Given the description of an element on the screen output the (x, y) to click on. 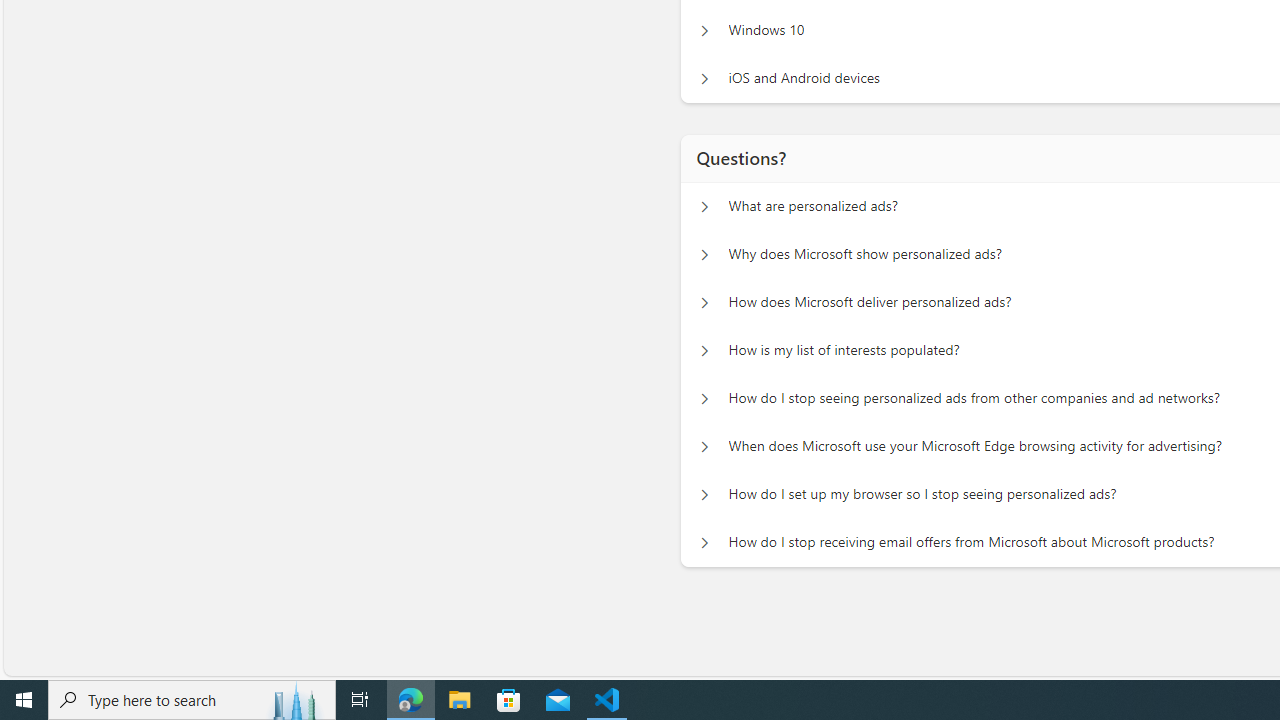
Questions? How is my list of interests populated? (704, 350)
Questions? How does Microsoft deliver personalized ads? (704, 302)
Questions? Why does Microsoft show personalized ads? (704, 255)
Manage personalized ads on your device Windows 10 (704, 30)
Questions? What are personalized ads? (704, 206)
